Given the description of an element on the screen output the (x, y) to click on. 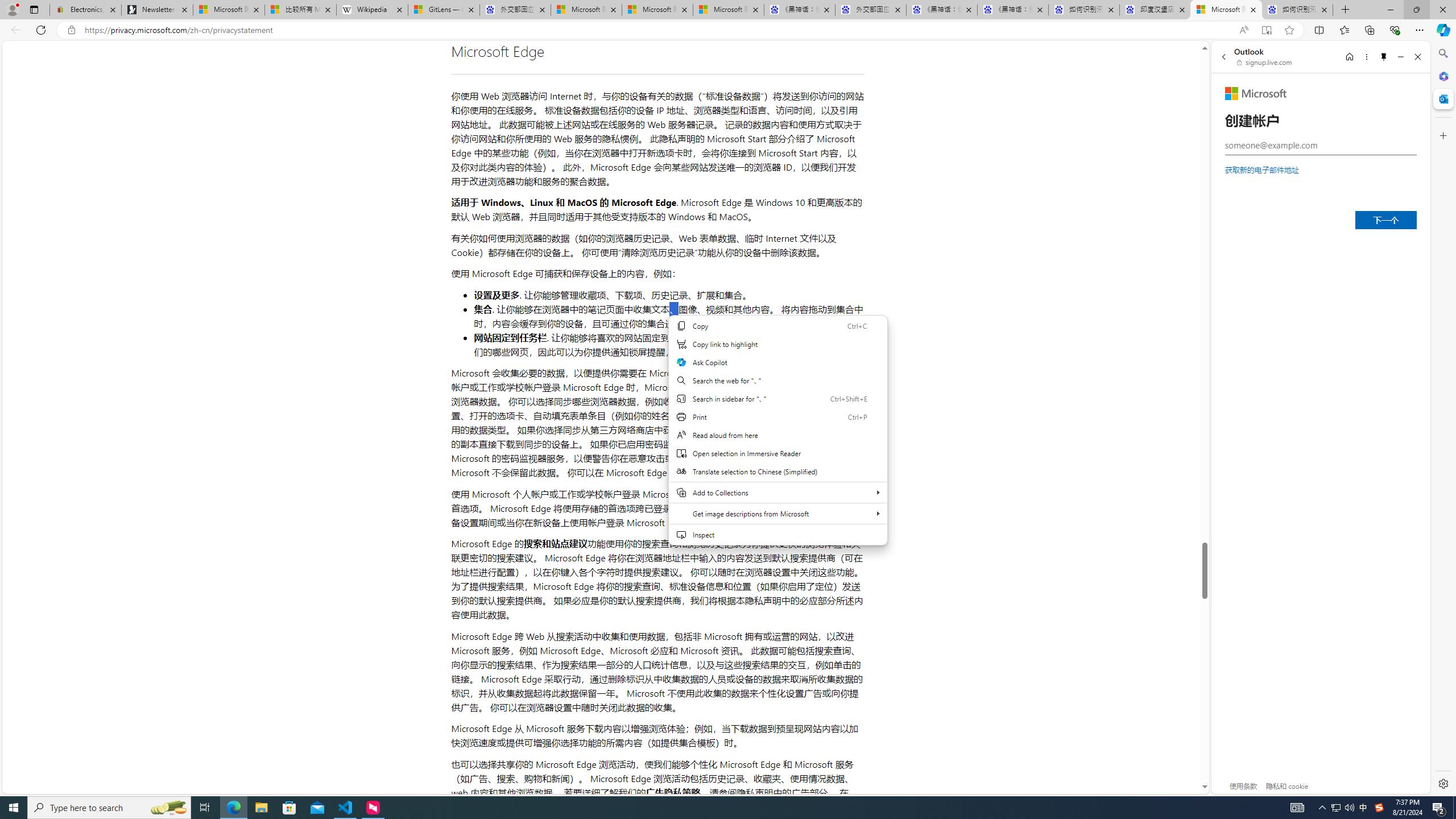
Enter Immersive Reader (F9) (1266, 29)
Electronics, Cars, Fashion, Collectibles & More | eBay (85, 9)
